Given the description of an element on the screen output the (x, y) to click on. 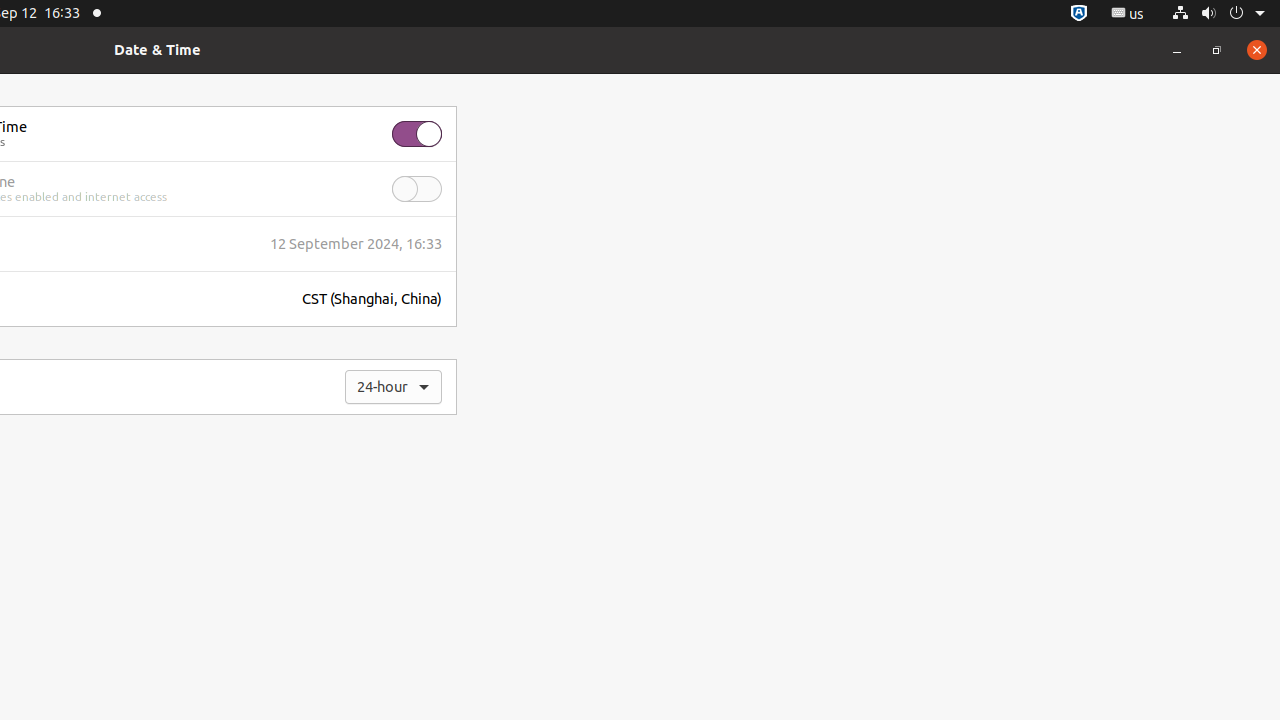
CST (Shanghai, China) Element type: label (372, 299)
Minimize Element type: push-button (1177, 50)
24-hour Element type: combo-box (393, 386)
